Given the description of an element on the screen output the (x, y) to click on. 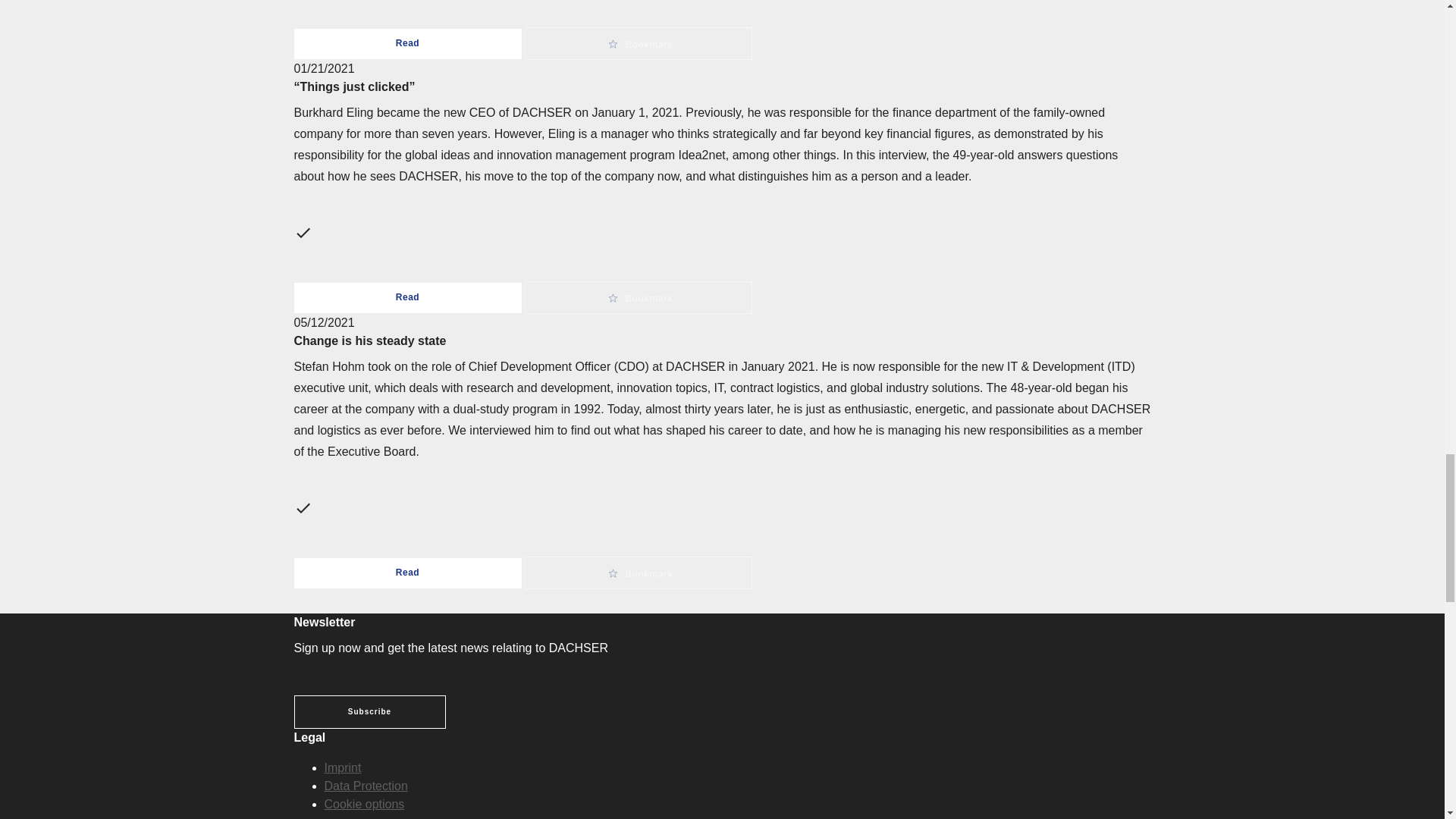
Gehe zu: (364, 803)
